Given the description of an element on the screen output the (x, y) to click on. 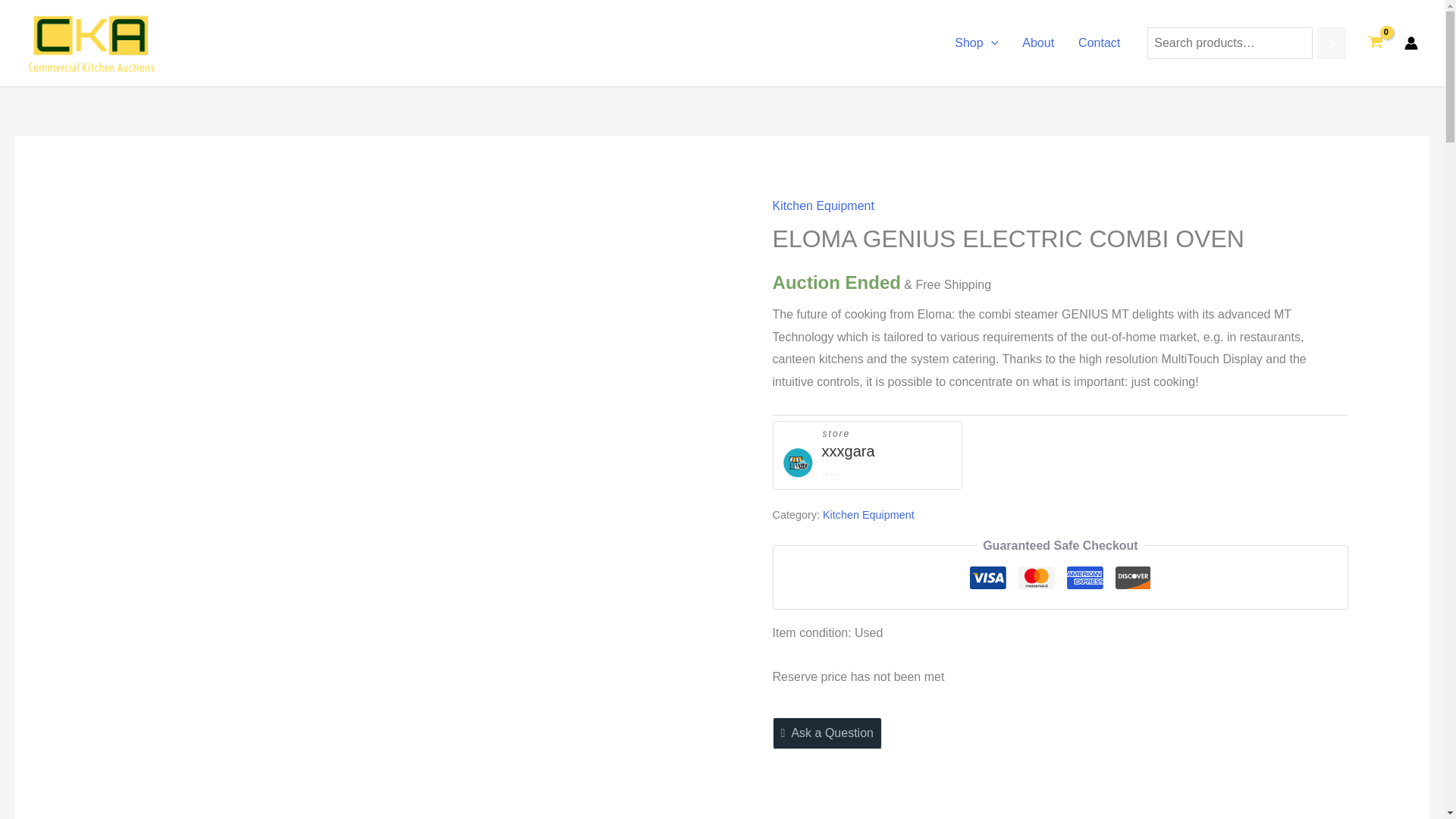
Kitchen Equipment (824, 205)
Shop (976, 42)
xxxgara (848, 451)
No reviews yet! (854, 469)
Kitchen Equipment (868, 514)
Log In (680, 626)
  Ask a Question (827, 733)
